Given the description of an element on the screen output the (x, y) to click on. 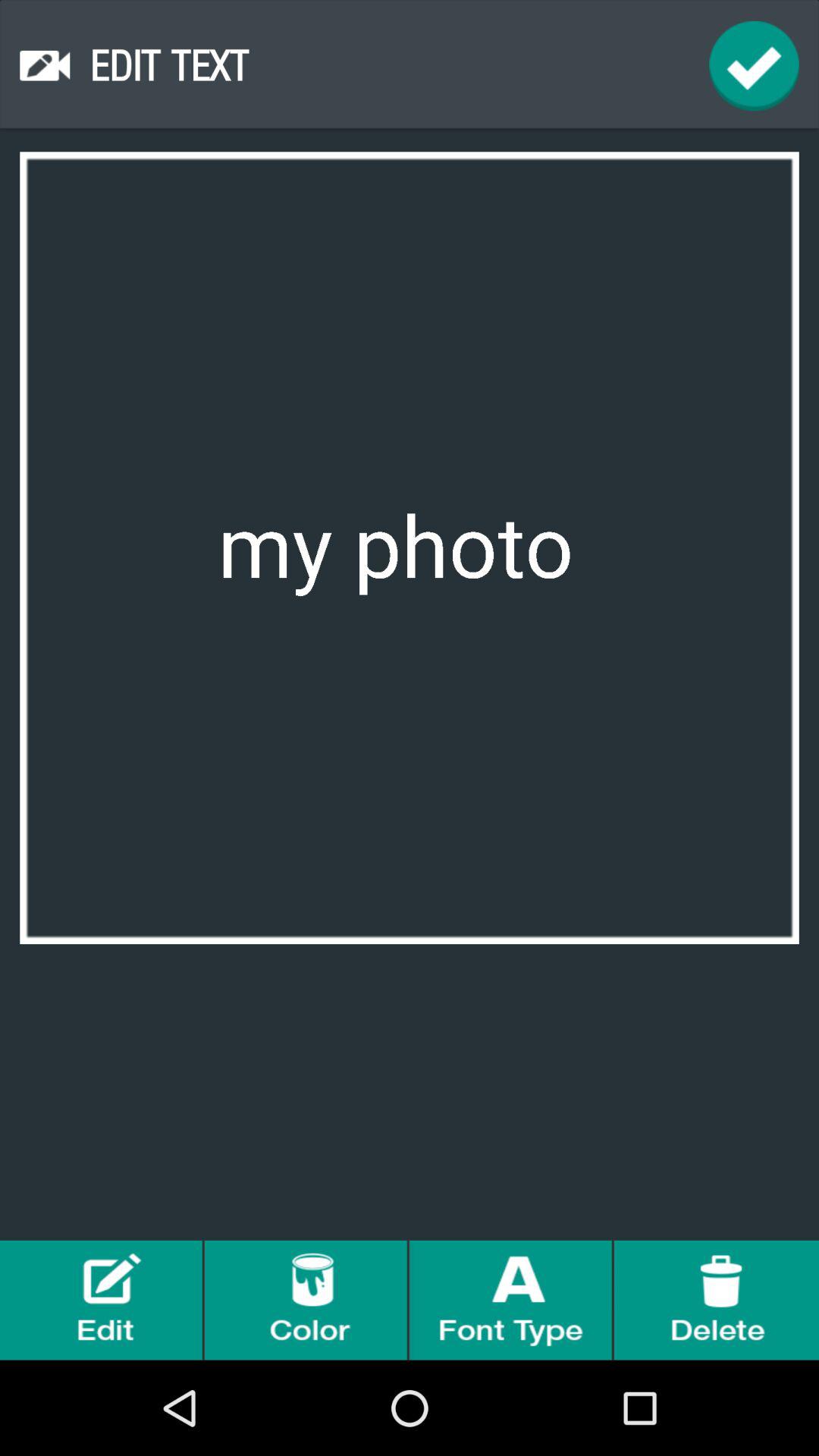
confirm edition (754, 65)
